Given the description of an element on the screen output the (x, y) to click on. 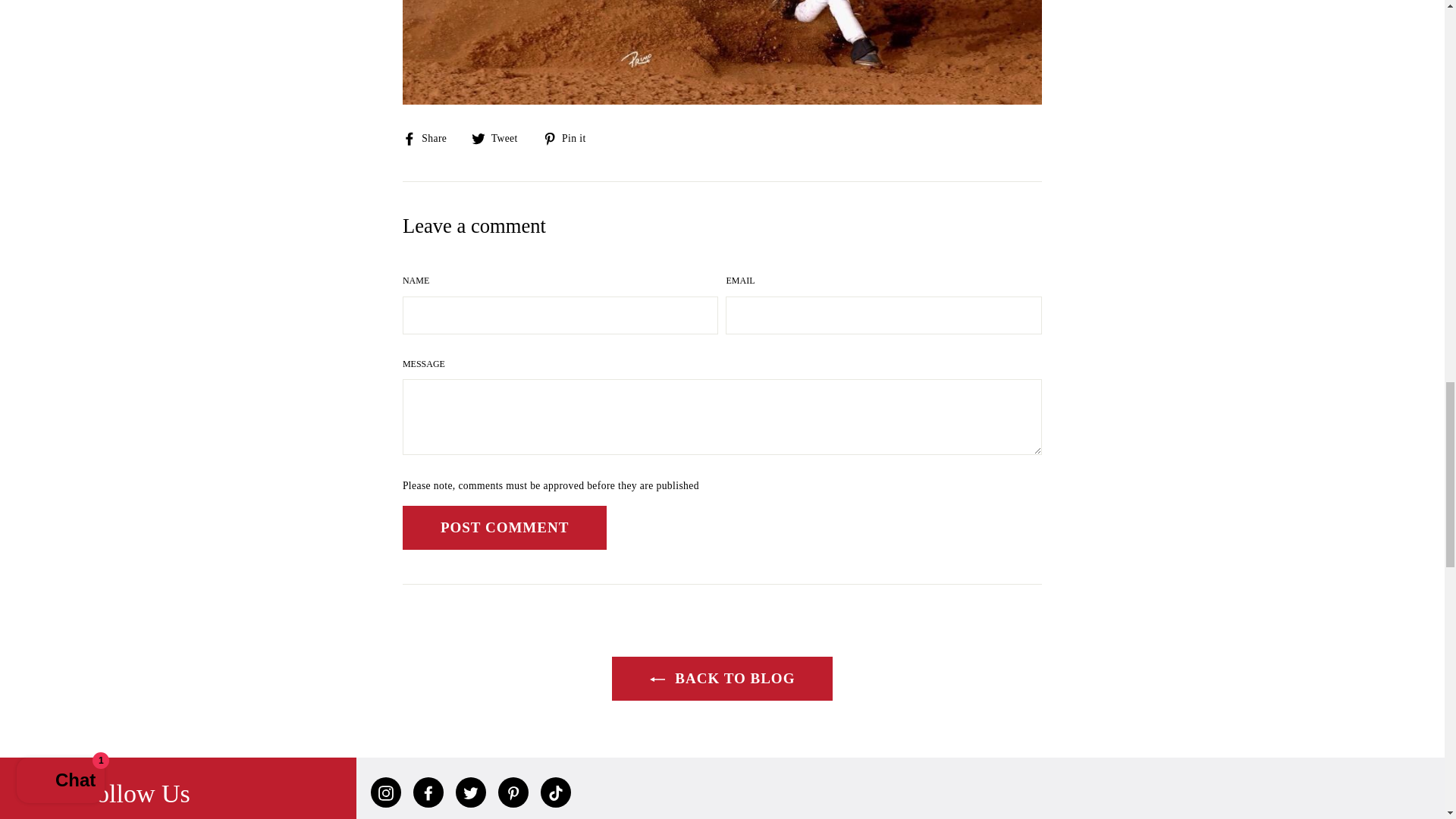
Tweet on Twitter (499, 137)
Kimes Ranch on Pinterest (512, 792)
Pin on Pinterest (569, 137)
Kimes Ranch on Instagram (386, 792)
Share on Facebook (430, 137)
Kimes Ranch on Facebook (428, 792)
Kimes Ranch on Twitter (470, 792)
Kimes Ranch on TikTok (555, 792)
